Given the description of an element on the screen output the (x, y) to click on. 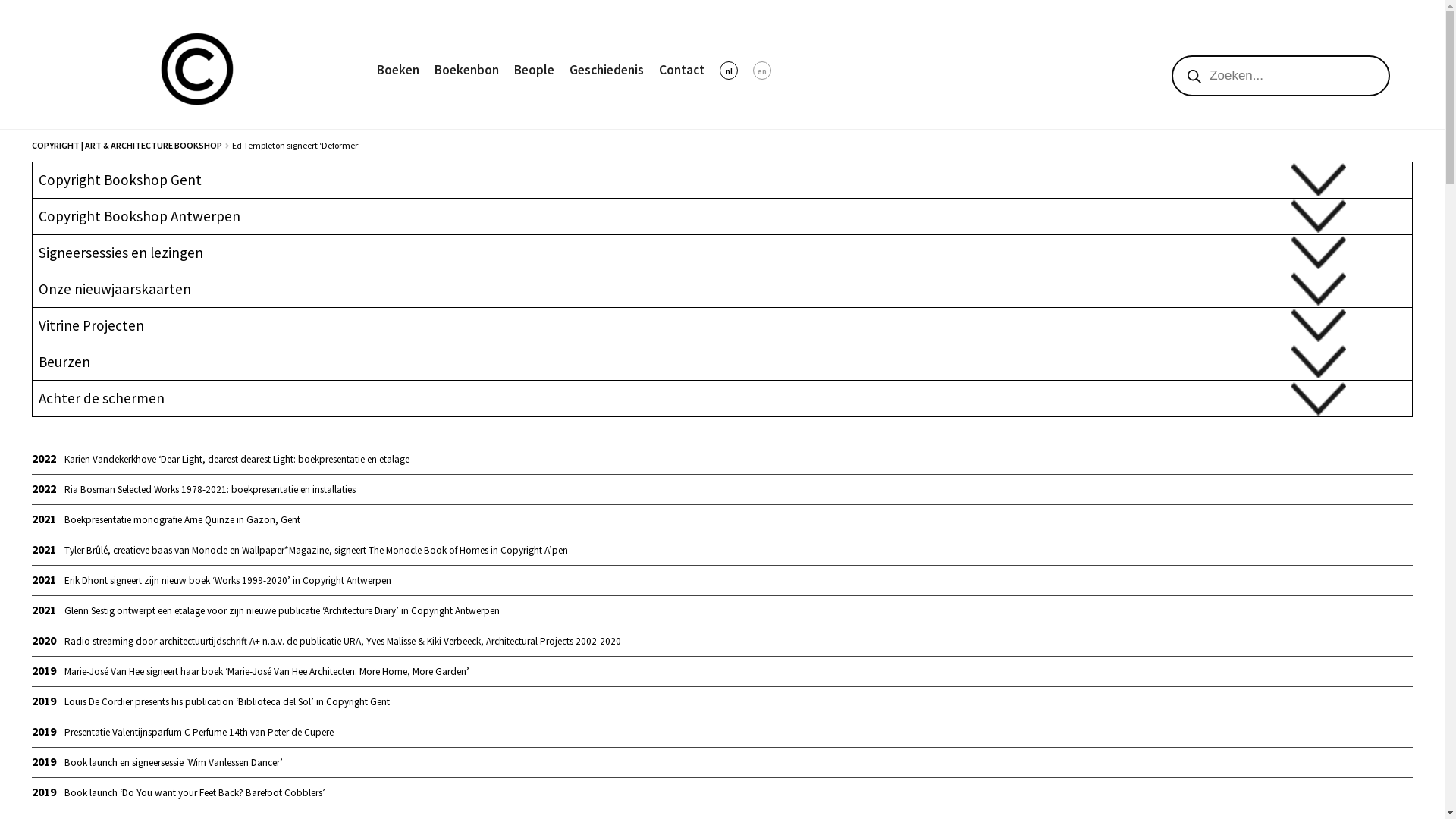
Achter de schermen Element type: text (721, 398)
Producten zoeken Element type: text (1288, 75)
Copyright Bookshop Antwerpen Element type: text (721, 216)
2021Boekpresentatie monografie Arne Quinze in Gazon, Gent Element type: text (721, 521)
Beople Element type: text (541, 69)
Boeken Element type: text (405, 69)
en Element type: text (769, 69)
COPYRIGHT | ART & ARCHITECTURE BOOKSHOP Element type: text (126, 144)
Contact Element type: text (688, 69)
Beurzen Element type: text (721, 361)
Signeersessies en lezingen Element type: text (721, 252)
Geschiedenis Element type: text (613, 69)
Onze nieuwjaarskaarten Element type: text (721, 289)
nl Element type: text (736, 69)
Boekenbon Element type: text (474, 69)
Copyright Bookshop Gent Element type: text (721, 179)
Vitrine Projecten Element type: text (721, 325)
